Given the description of an element on the screen output the (x, y) to click on. 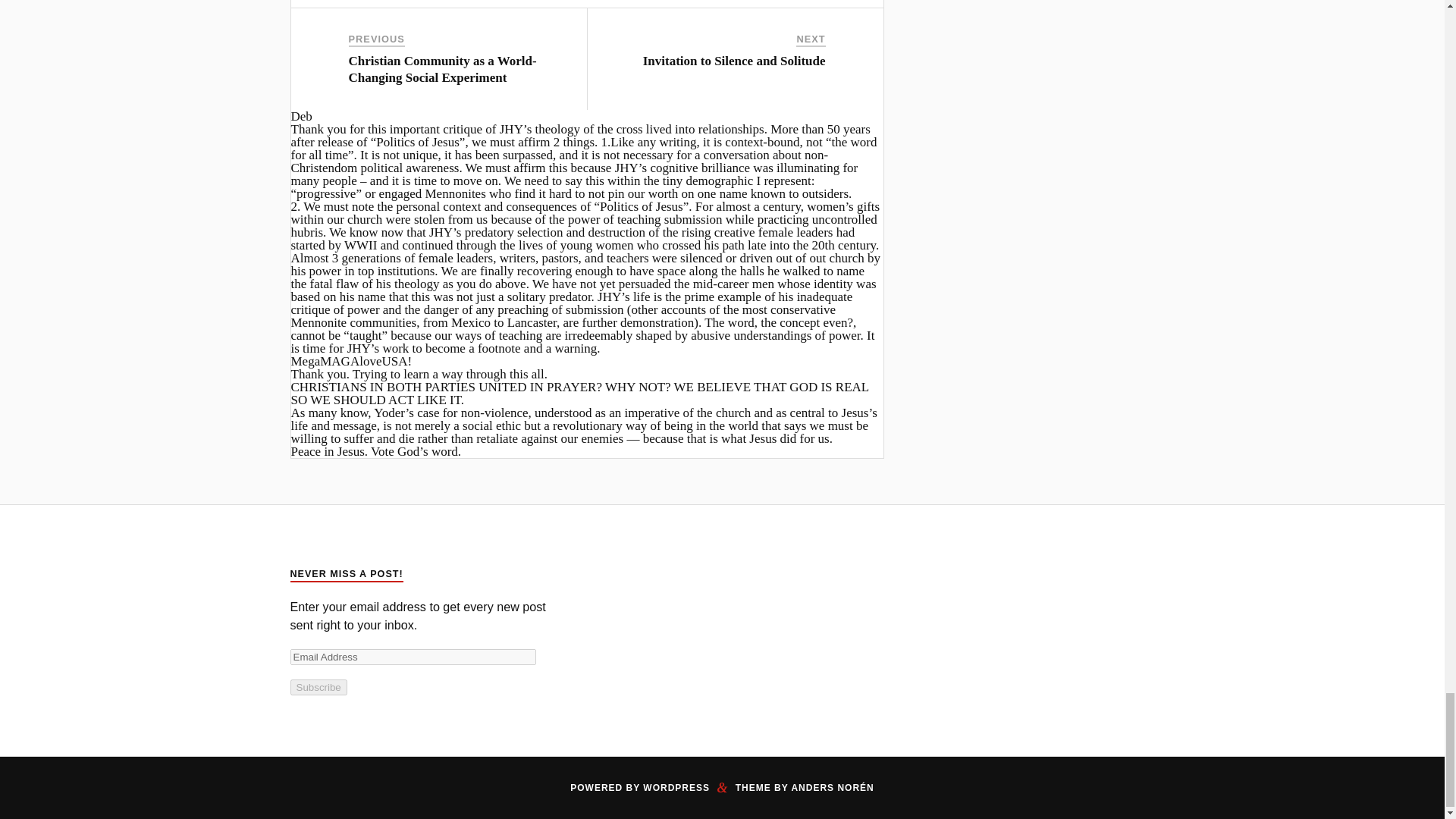
Next post: Invitation to Silence and Solitude (734, 60)
Subscribe (317, 687)
